Given the description of an element on the screen output the (x, y) to click on. 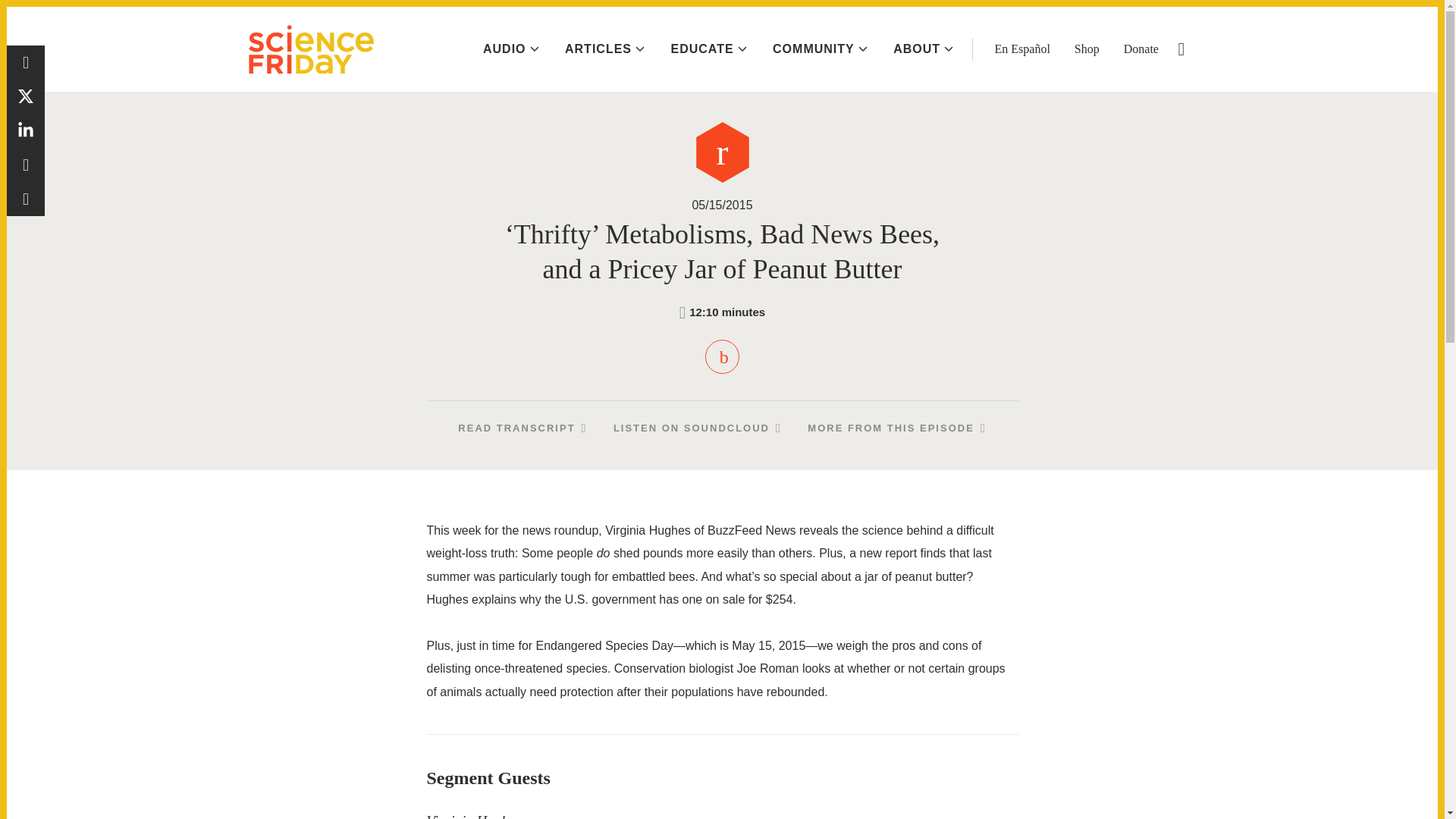
LATEST EPISODE (1360, 20)
COMMUNITY (820, 48)
Shop (1086, 48)
Reddit (26, 164)
ARTICLES (604, 48)
LinkedIn (26, 130)
Read Transcript (522, 427)
Email (26, 198)
EDUCATE (707, 48)
Segment (721, 152)
Search (1181, 48)
Reddit (26, 164)
X (26, 96)
Science Friday (311, 49)
